Given the description of an element on the screen output the (x, y) to click on. 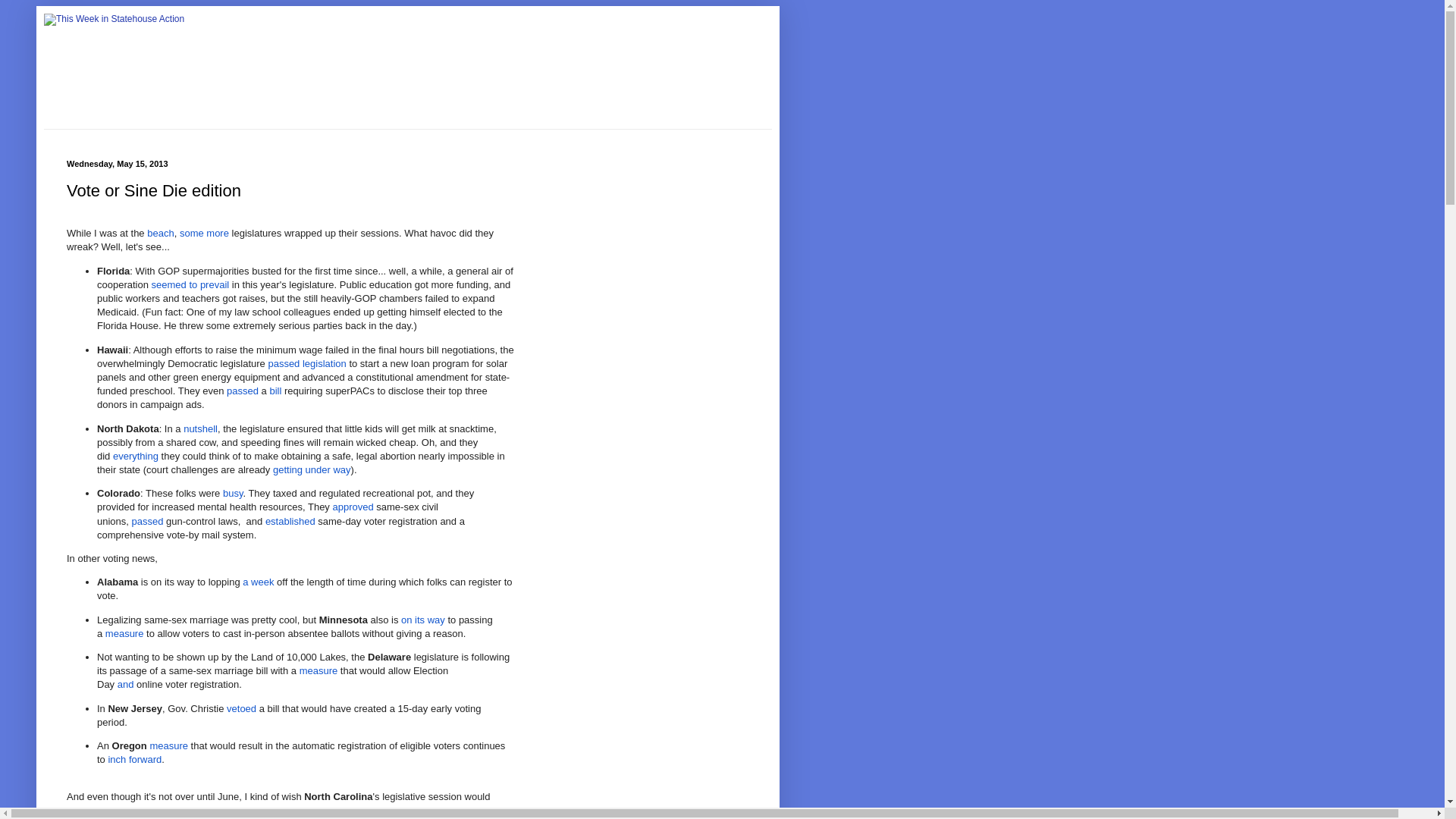
approved (351, 506)
everything (135, 455)
measure (124, 633)
beach (160, 233)
nutshell (199, 428)
local reports (363, 810)
passed legislation (306, 363)
busy (232, 492)
measure (318, 670)
vetoed (241, 708)
getting under way (311, 469)
on its way (423, 619)
established (289, 521)
passed (243, 390)
some more (203, 233)
